Given the description of an element on the screen output the (x, y) to click on. 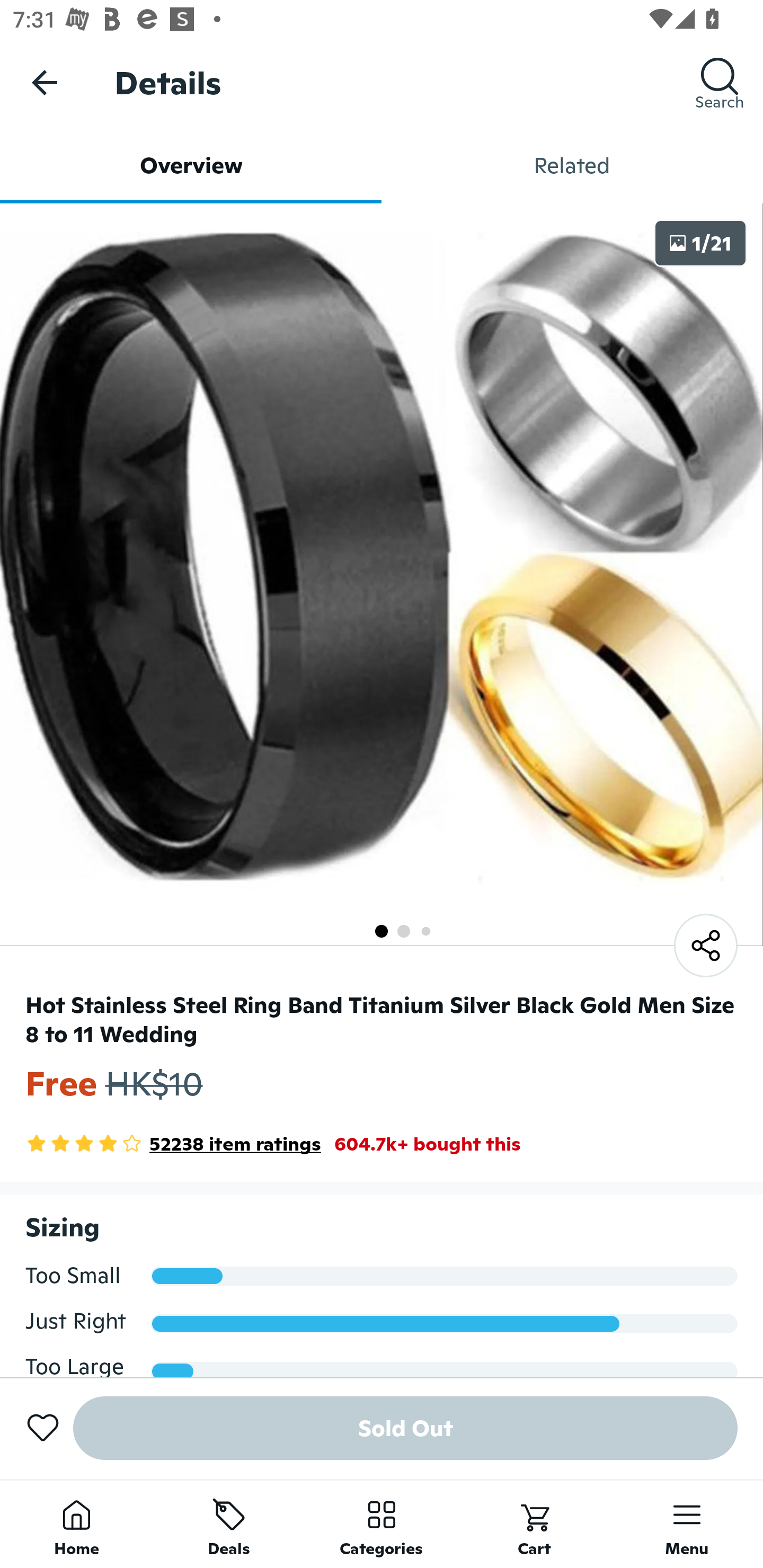
Navigate up (44, 82)
Search (719, 82)
Related (572, 165)
1/21 (700, 242)
4.2 Star Rating 52238 item ratings (173, 1143)
Sold Out (405, 1428)
Home (76, 1523)
Deals (228, 1523)
Categories (381, 1523)
Cart (533, 1523)
Menu (686, 1523)
